Given the description of an element on the screen output the (x, y) to click on. 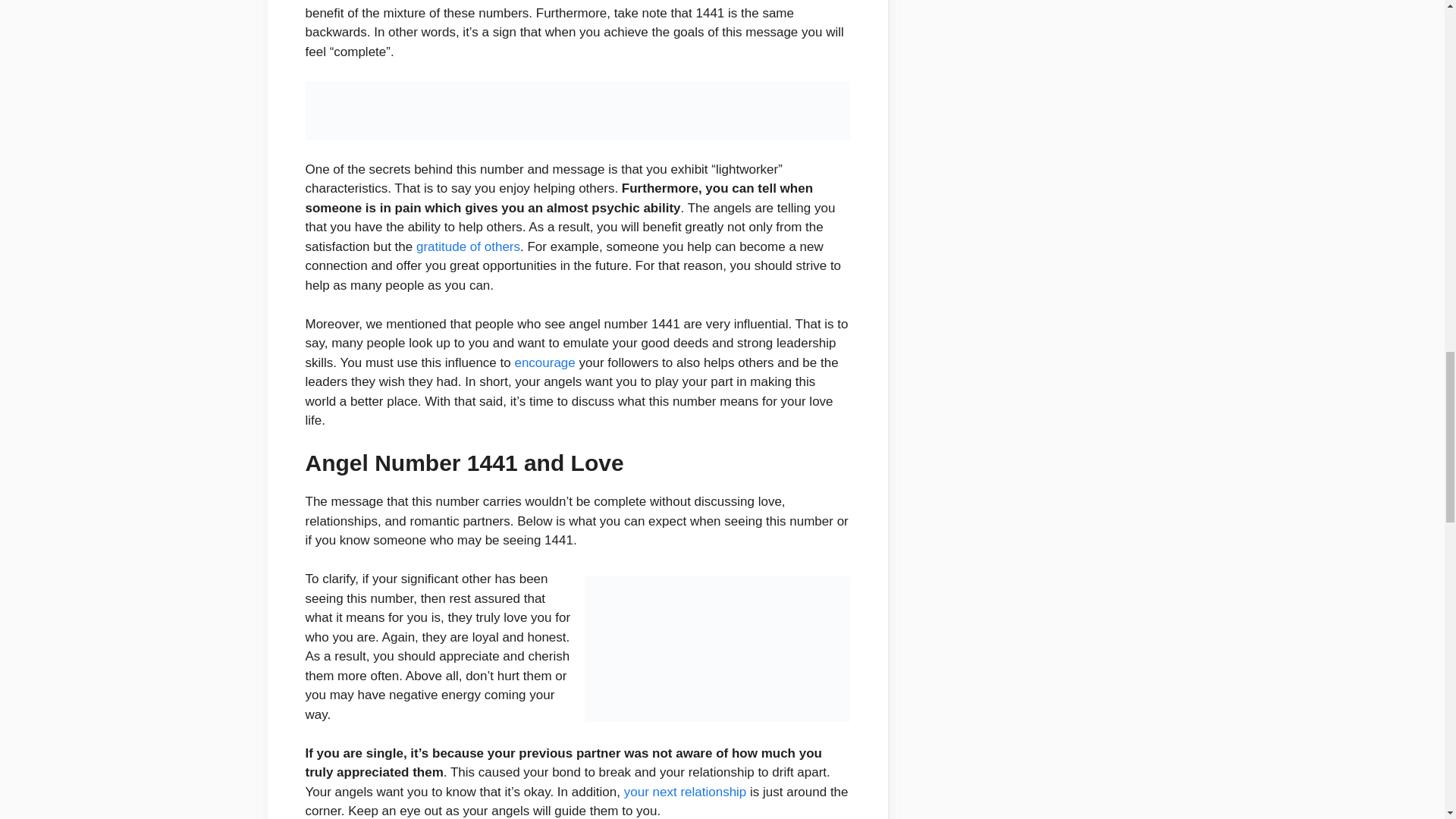
your next relationship (685, 791)
encourage (544, 362)
gratitude of others (467, 246)
